Given the description of an element on the screen output the (x, y) to click on. 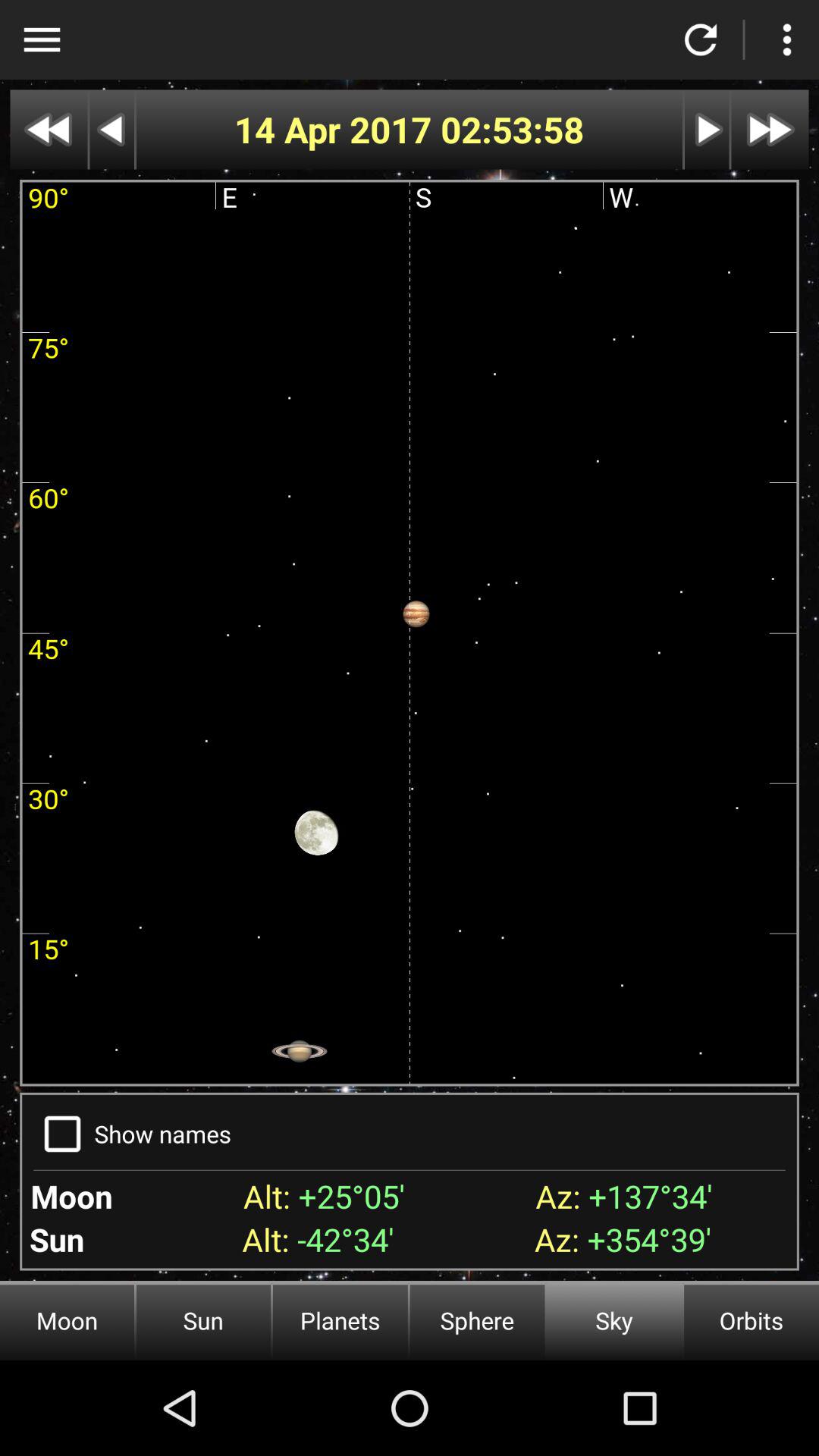
launch 02:53:58 (512, 129)
